Given the description of an element on the screen output the (x, y) to click on. 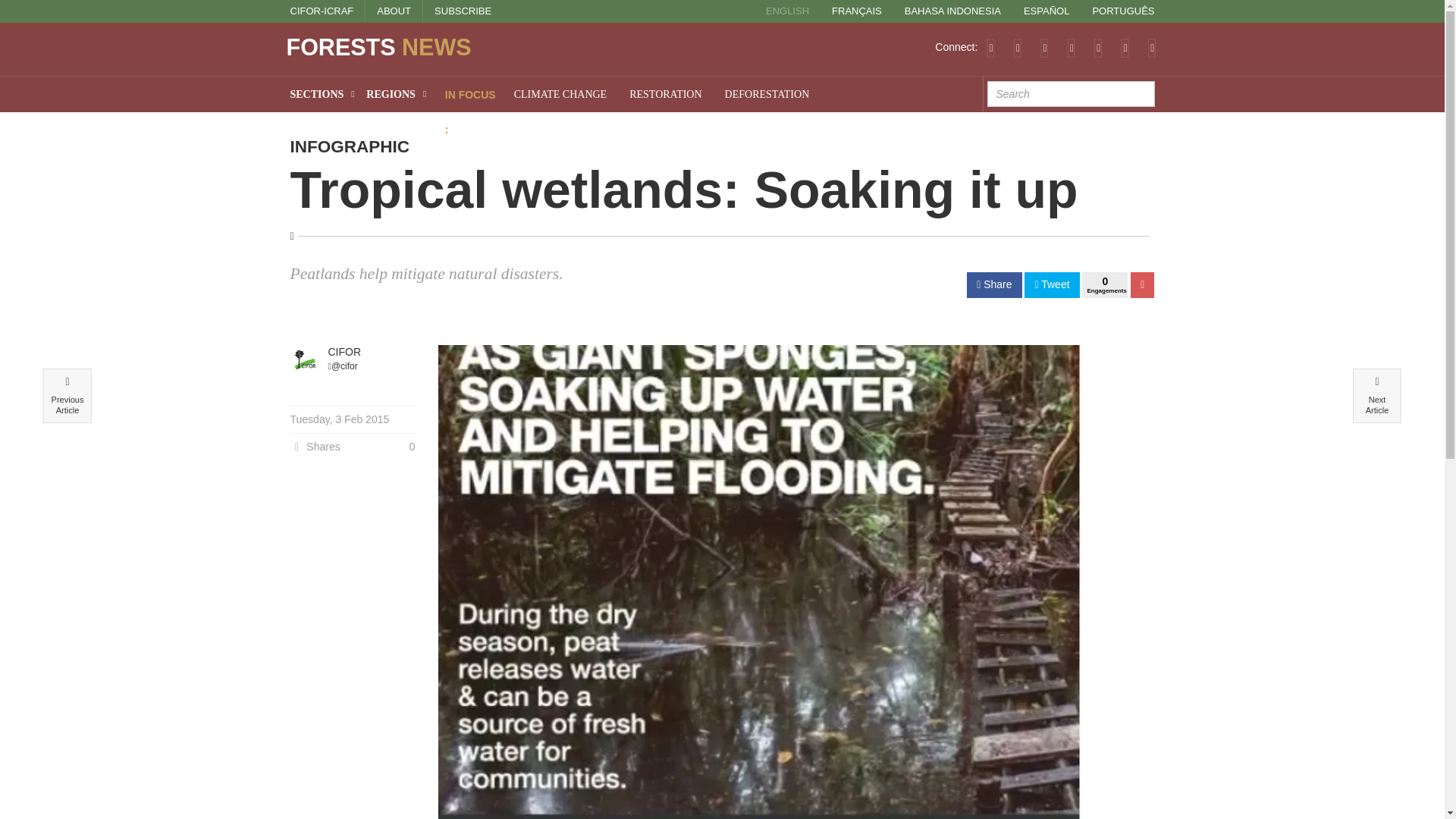
BAHASA INDONESIA (952, 11)
Email (1152, 46)
Facebook (1044, 46)
Youtube (1098, 46)
Instagram (1125, 46)
SUBSCRIBE (462, 10)
CIFOR-ICRAF (321, 10)
Twitter (1017, 46)
ENGLISH (787, 11)
Share on Facebook (994, 284)
